Given the description of an element on the screen output the (x, y) to click on. 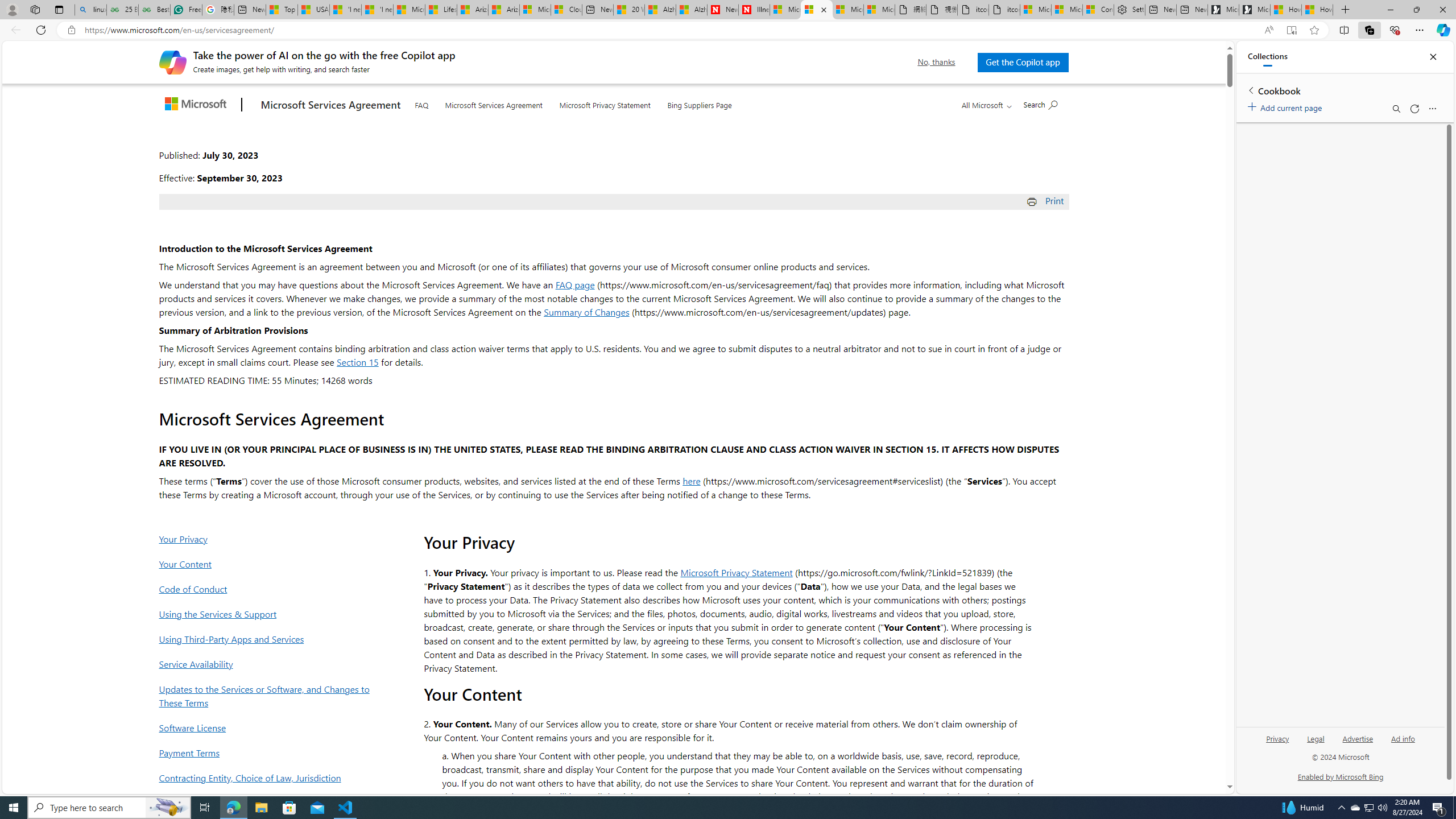
Get the Copilot app  (1022, 62)
